Given the description of an element on the screen output the (x, y) to click on. 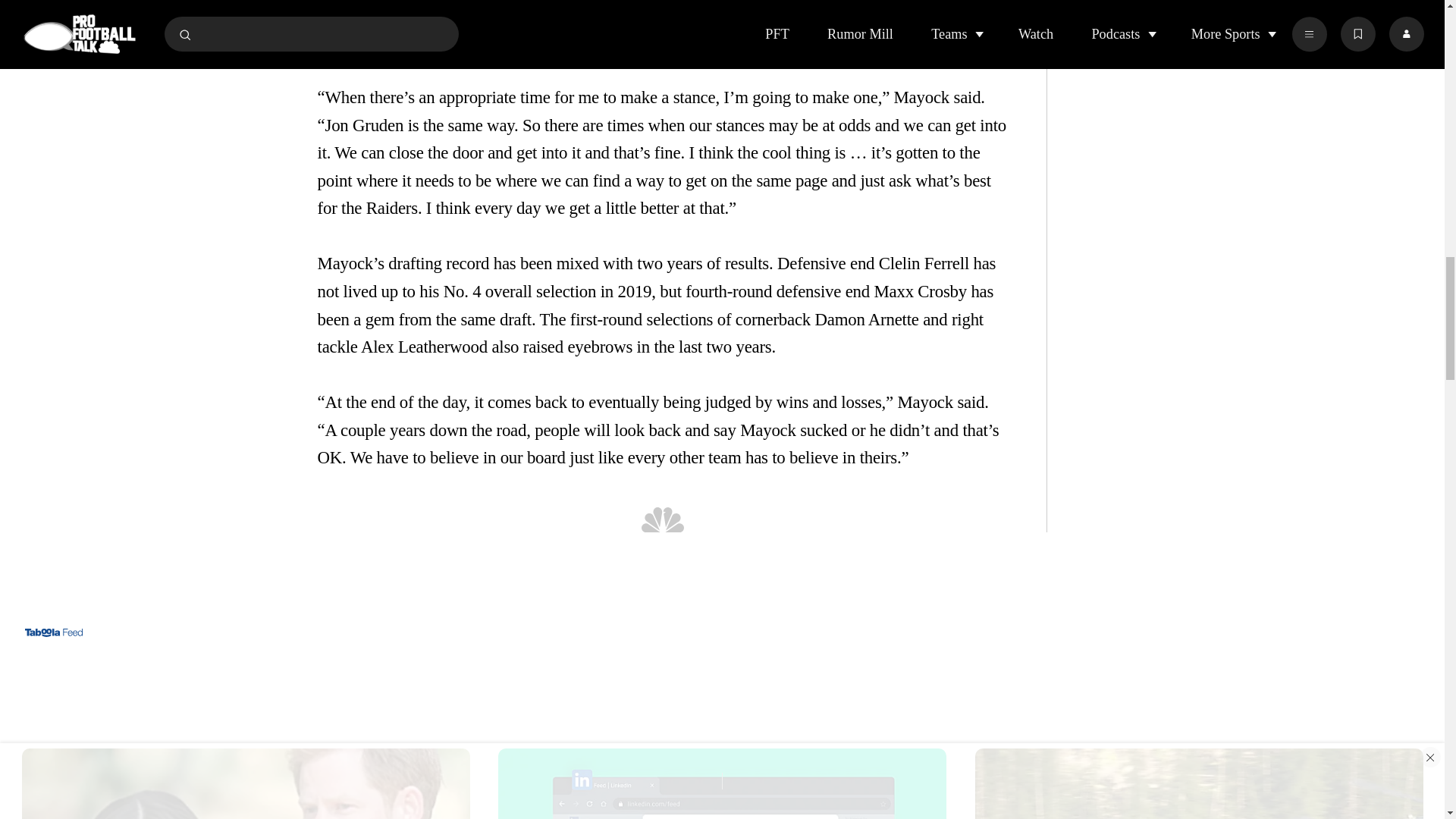
What is your writing missing? (721, 779)
